Given the description of an element on the screen output the (x, y) to click on. 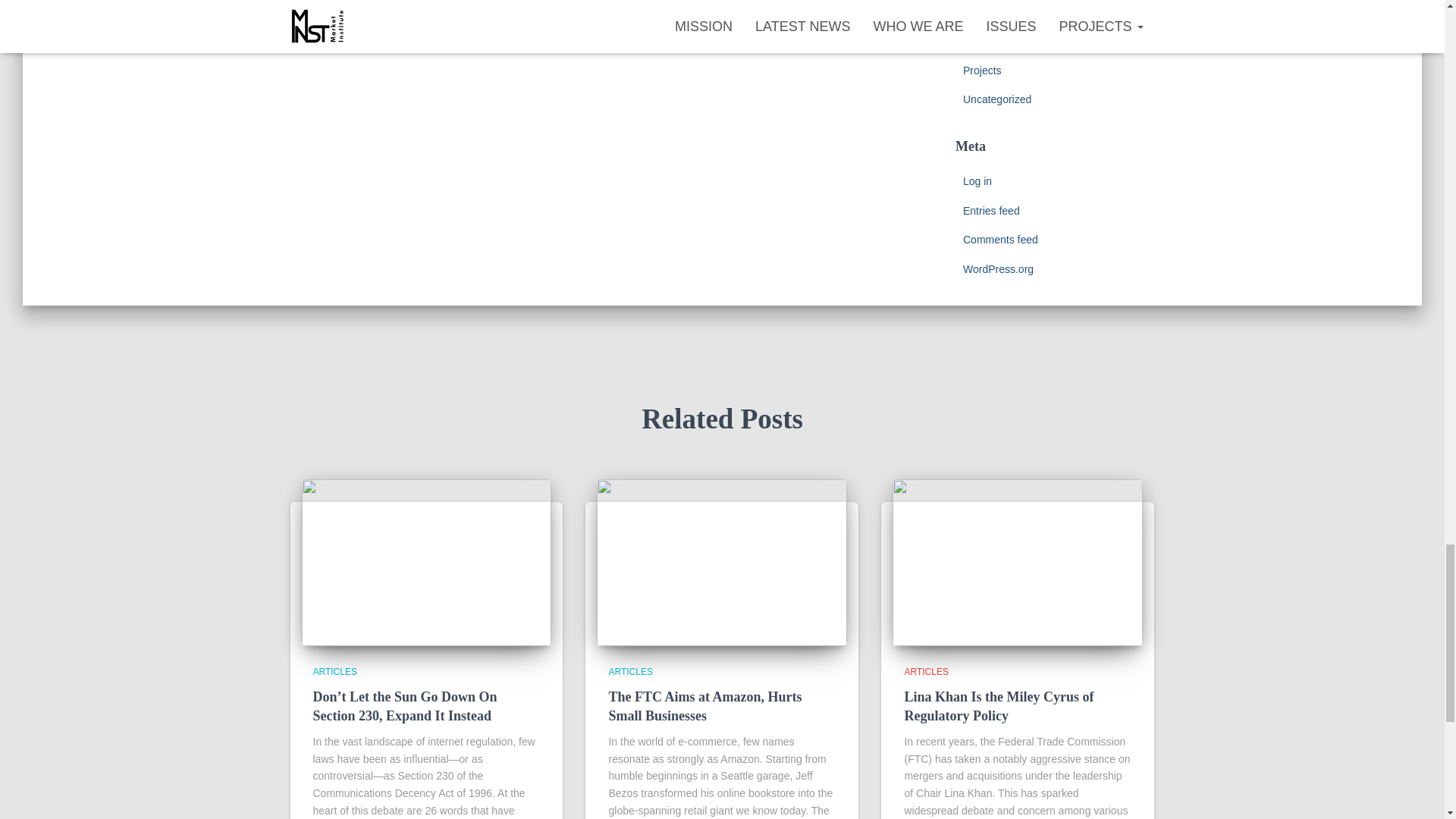
Lina Khan Is the Miley Cyrus of Regulatory Policy (998, 706)
View all posts in Articles (925, 671)
View all posts in Articles (630, 671)
The FTC Aims at Amazon, Hurts Small Businesses (721, 562)
View all posts in Articles (334, 671)
Lina Khan Is the Miley Cyrus of Regulatory Policy (1017, 562)
The FTC Aims at Amazon, Hurts Small Businesses (705, 706)
